Given the description of an element on the screen output the (x, y) to click on. 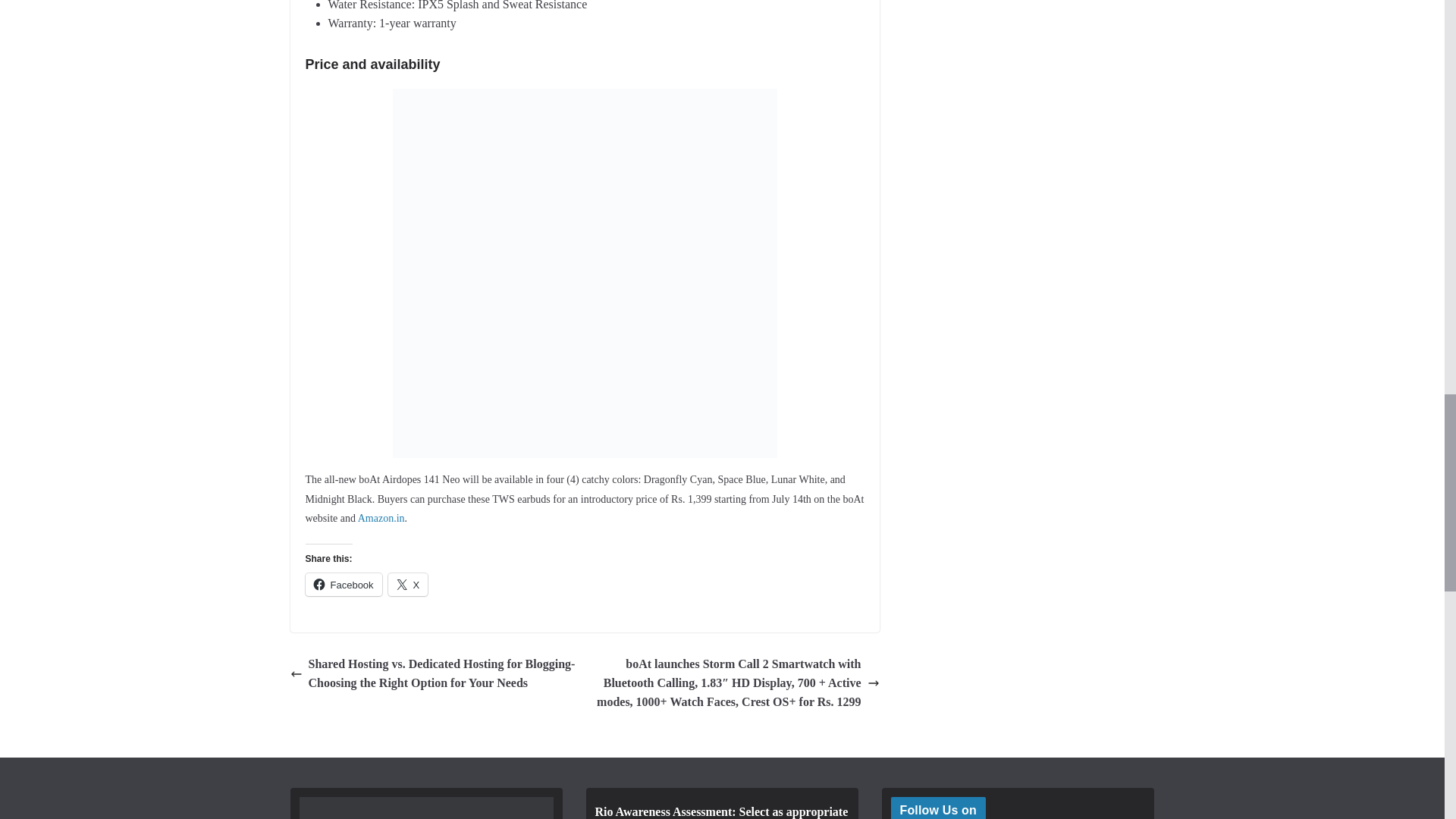
X (408, 584)
Click to share on Facebook (342, 584)
Click to share on X (408, 584)
Amazon.in (381, 518)
Facebook (342, 584)
